Given the description of an element on the screen output the (x, y) to click on. 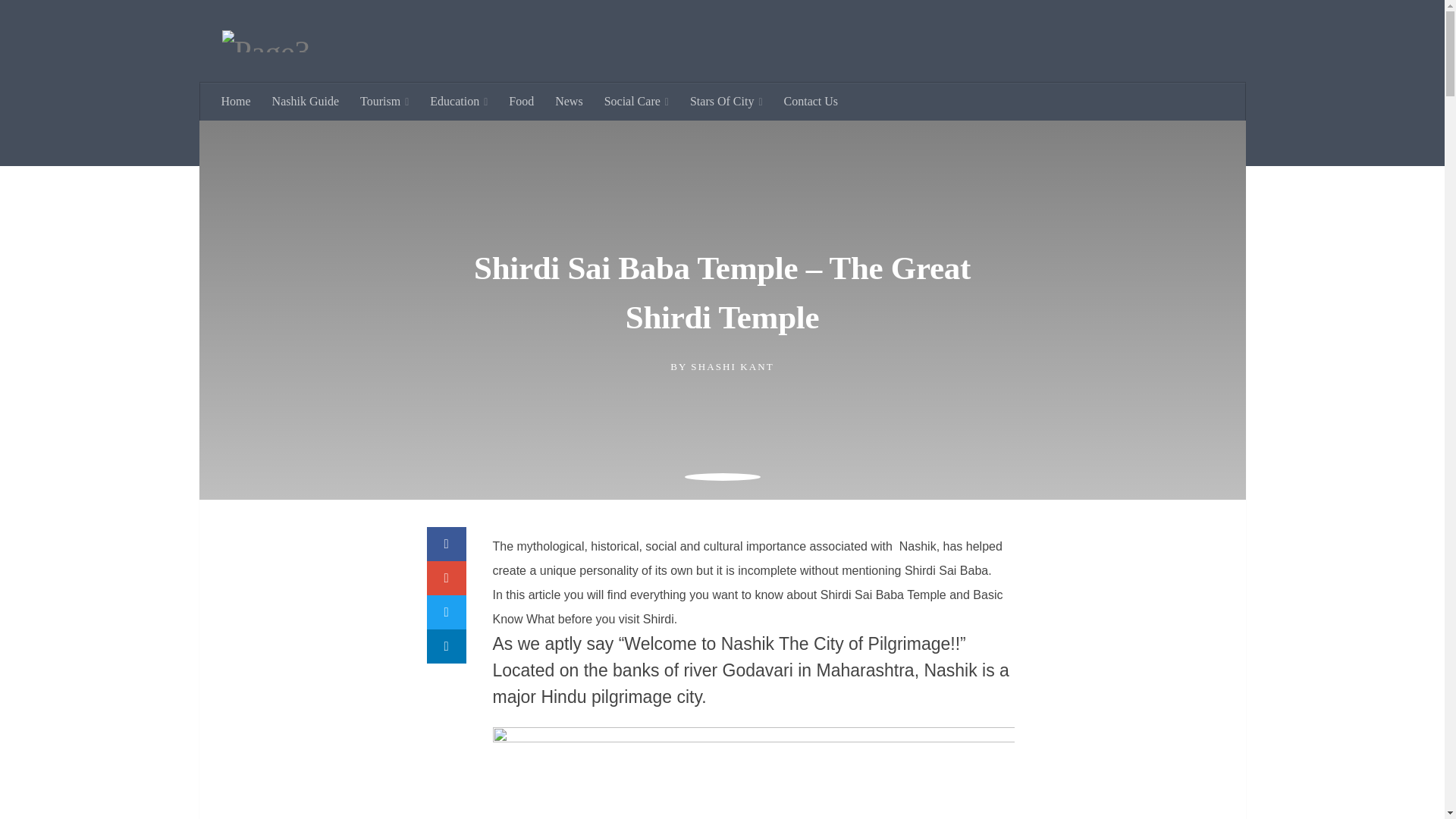
Social Care (636, 101)
News (568, 101)
Education (458, 101)
Skip to content (59, 20)
Nashik Guide (305, 101)
Home (236, 101)
Tourism (384, 101)
Food (520, 101)
Stars Of City (726, 101)
